Given the description of an element on the screen output the (x, y) to click on. 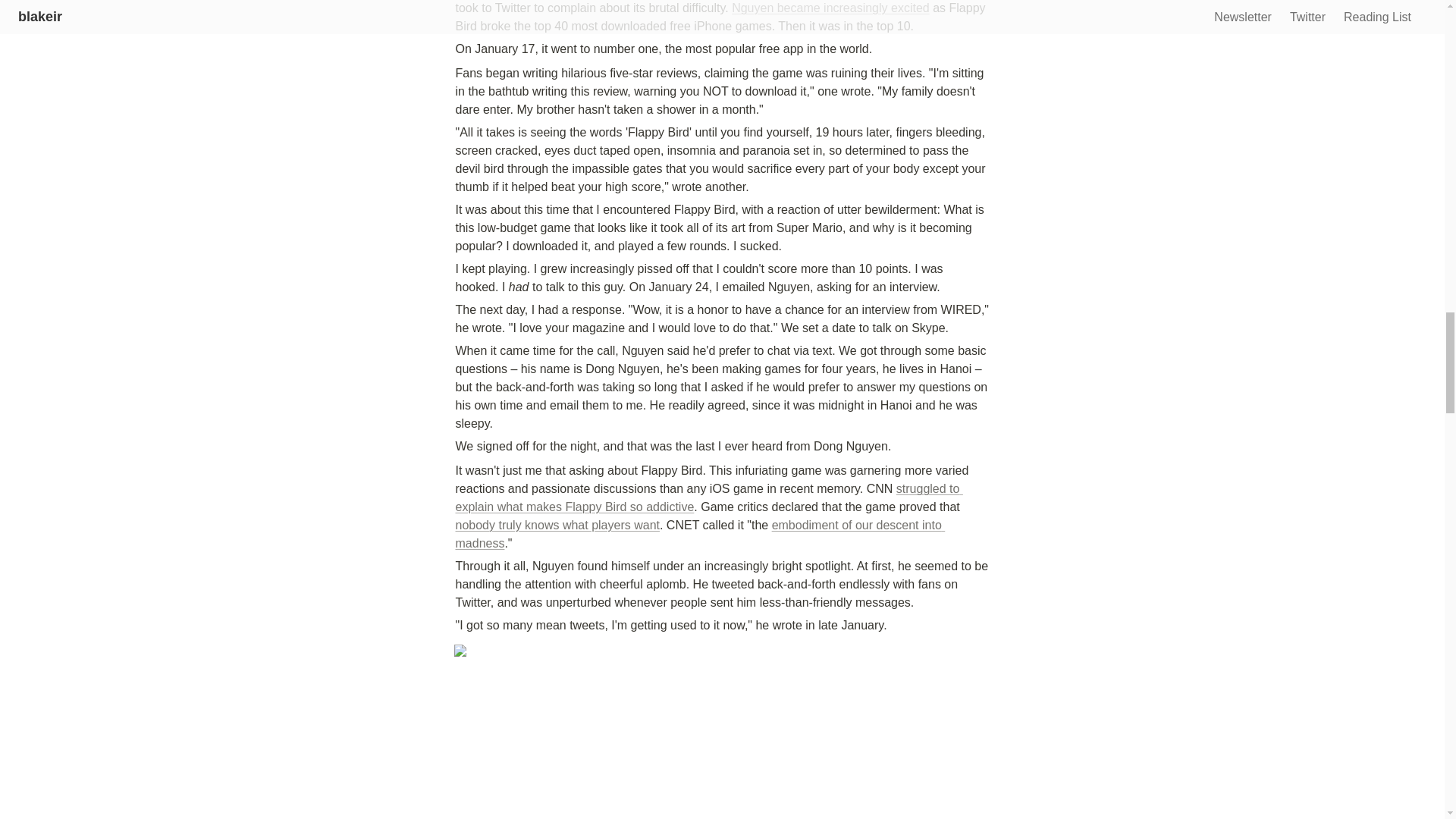
nobody truly knows what players want (556, 524)
embodiment of our descent into madness (699, 533)
struggled to explain what makes Flappy Bird so addictive (708, 497)
Nguyen became increasingly excited (831, 7)
